Given the description of an element on the screen output the (x, y) to click on. 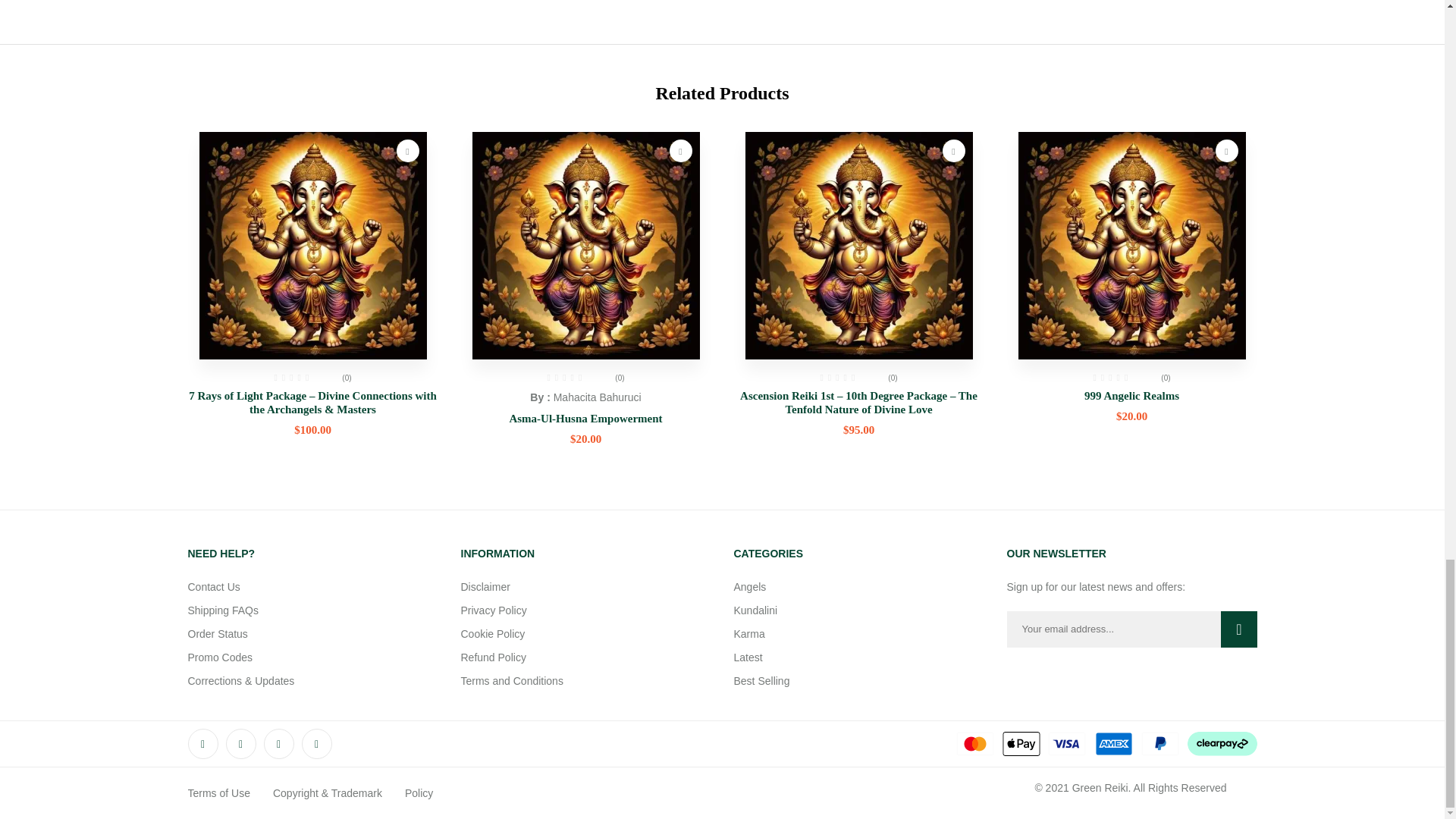
SUBSCRIBE (1234, 628)
